Given the description of an element on the screen output the (x, y) to click on. 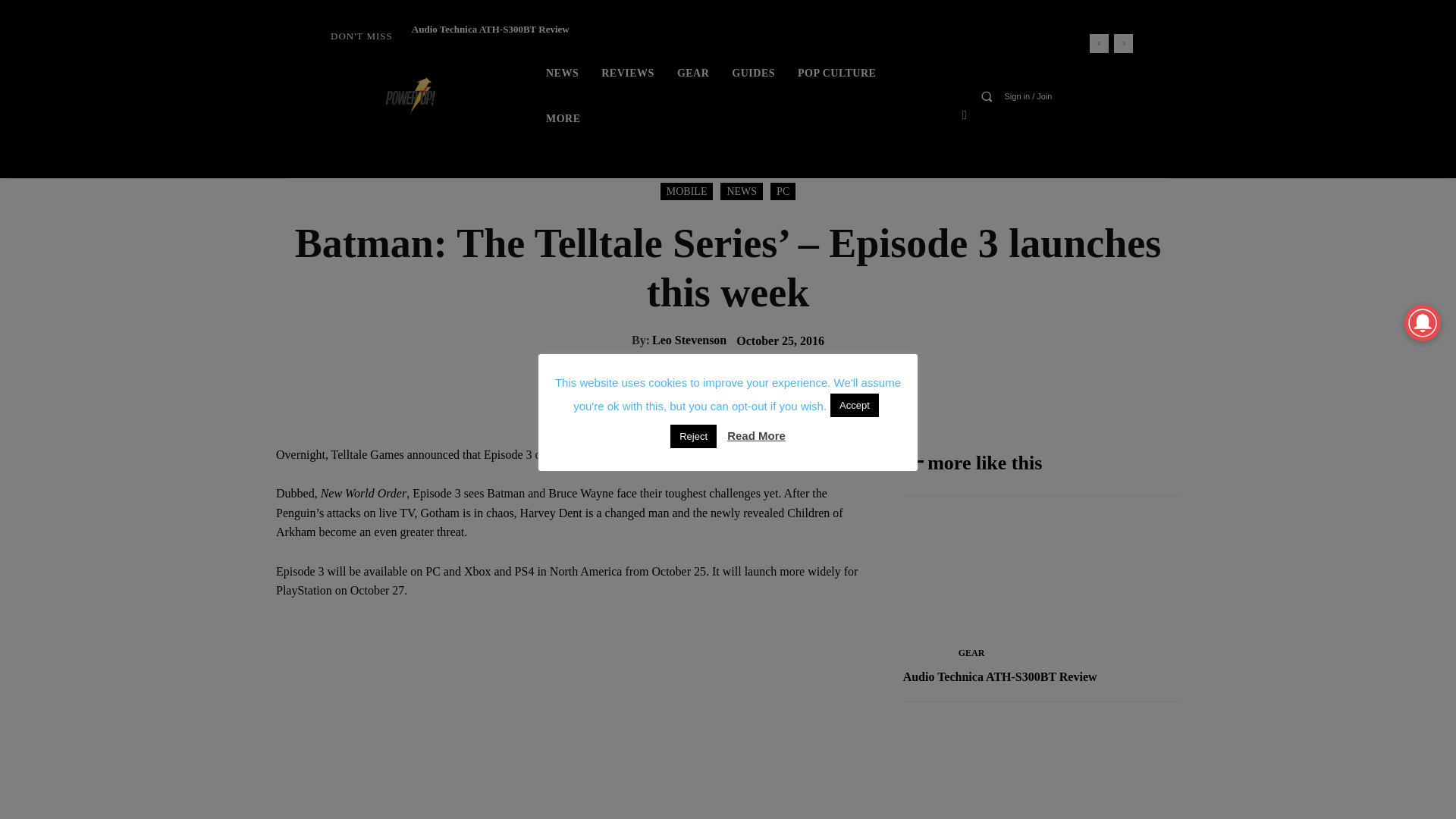
Audio Technica ATH-S300BT Review (490, 29)
Audio Technica ATH-S300BT Review (490, 29)
NEWS (561, 73)
